Given the description of an element on the screen output the (x, y) to click on. 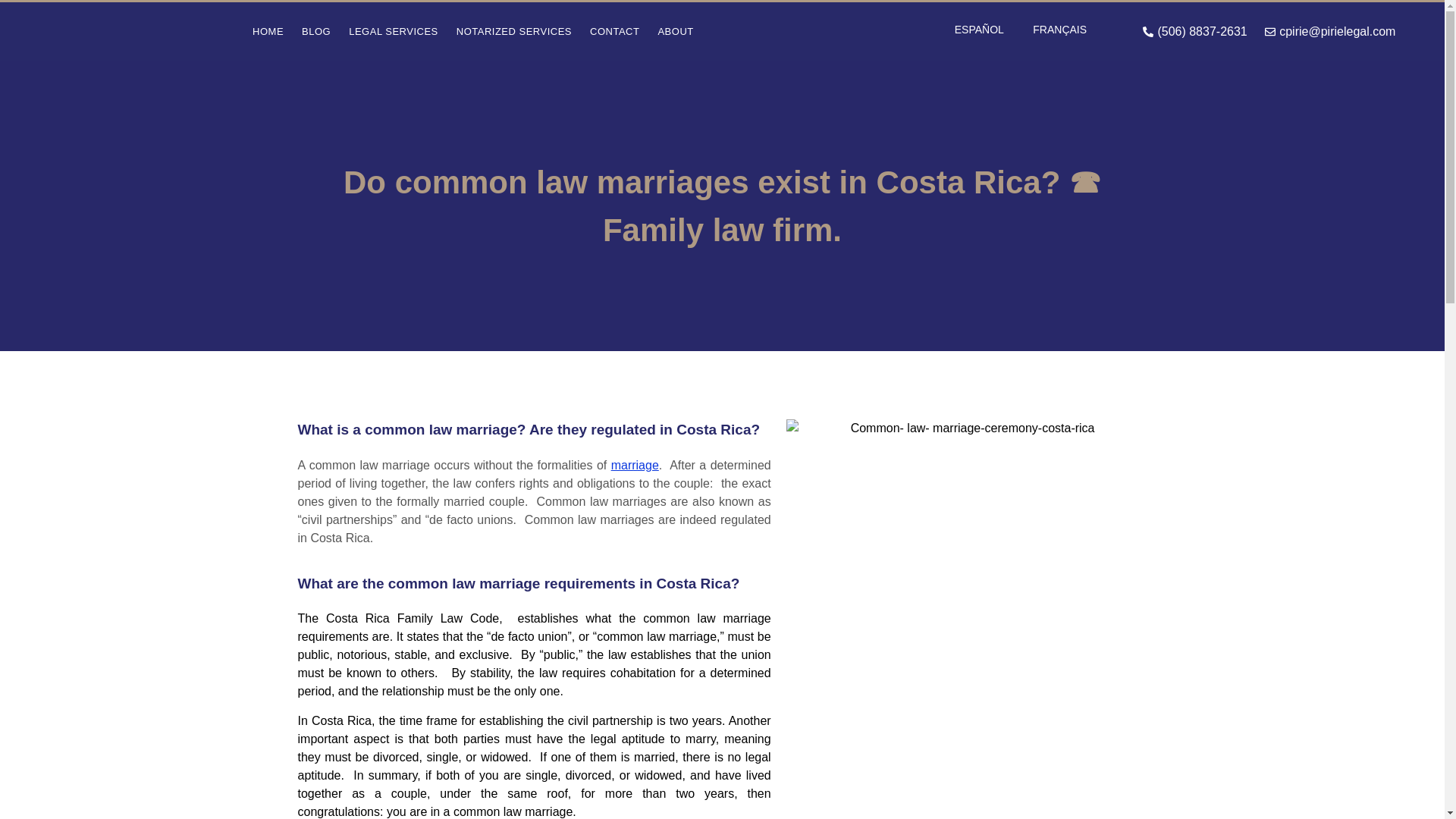
HOME (267, 31)
ABOUT (674, 31)
LEGAL SERVICES (392, 31)
NOTARIZED SERVICES (513, 31)
CONTACT (613, 31)
BLOG (315, 31)
